Given the description of an element on the screen output the (x, y) to click on. 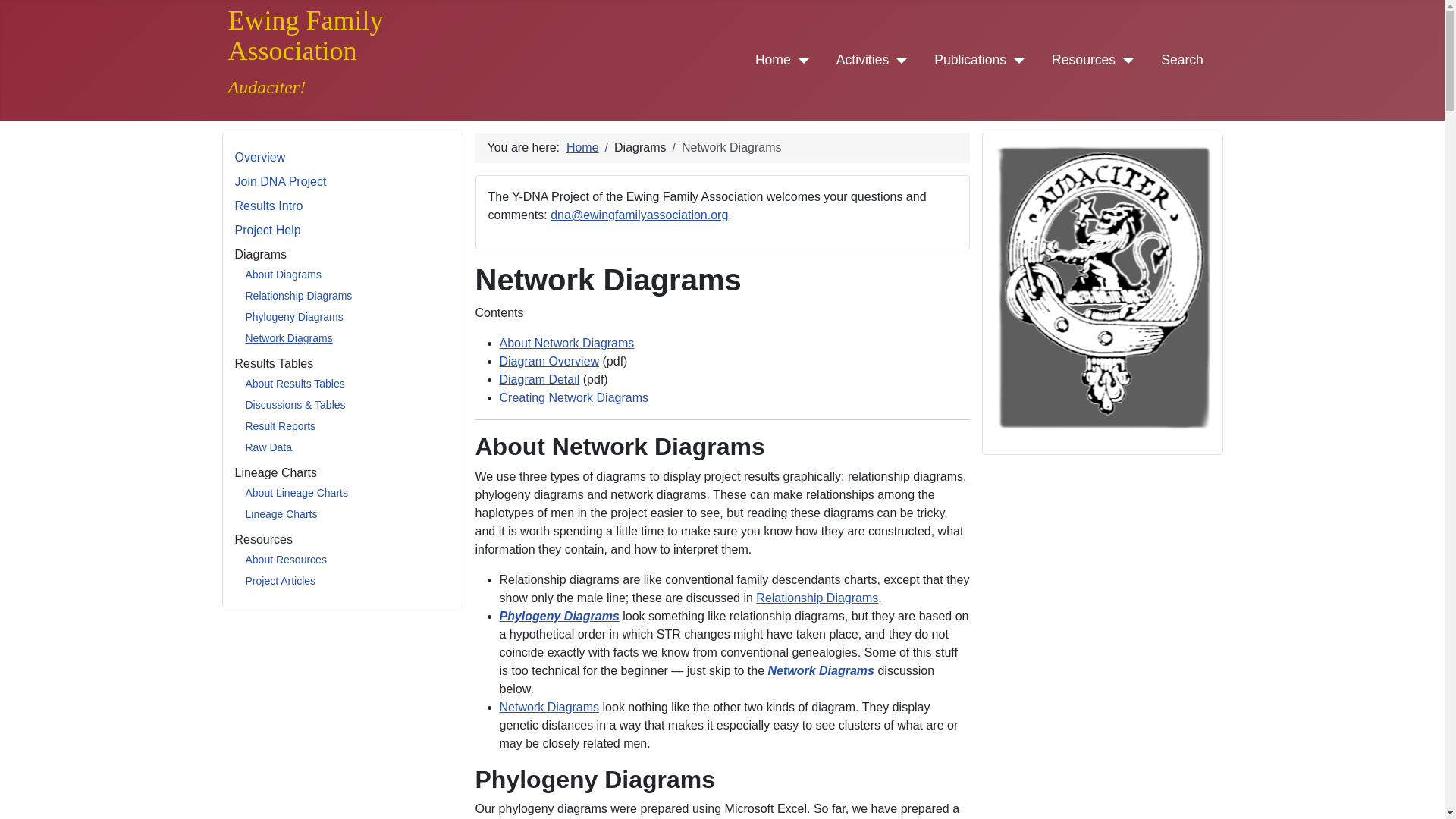
Publications (970, 59)
Results Intro (268, 205)
Join DNA Project (280, 181)
Search (1182, 59)
Resources (1083, 59)
Overview (259, 156)
Activities (861, 59)
Home (772, 59)
